Given the description of an element on the screen output the (x, y) to click on. 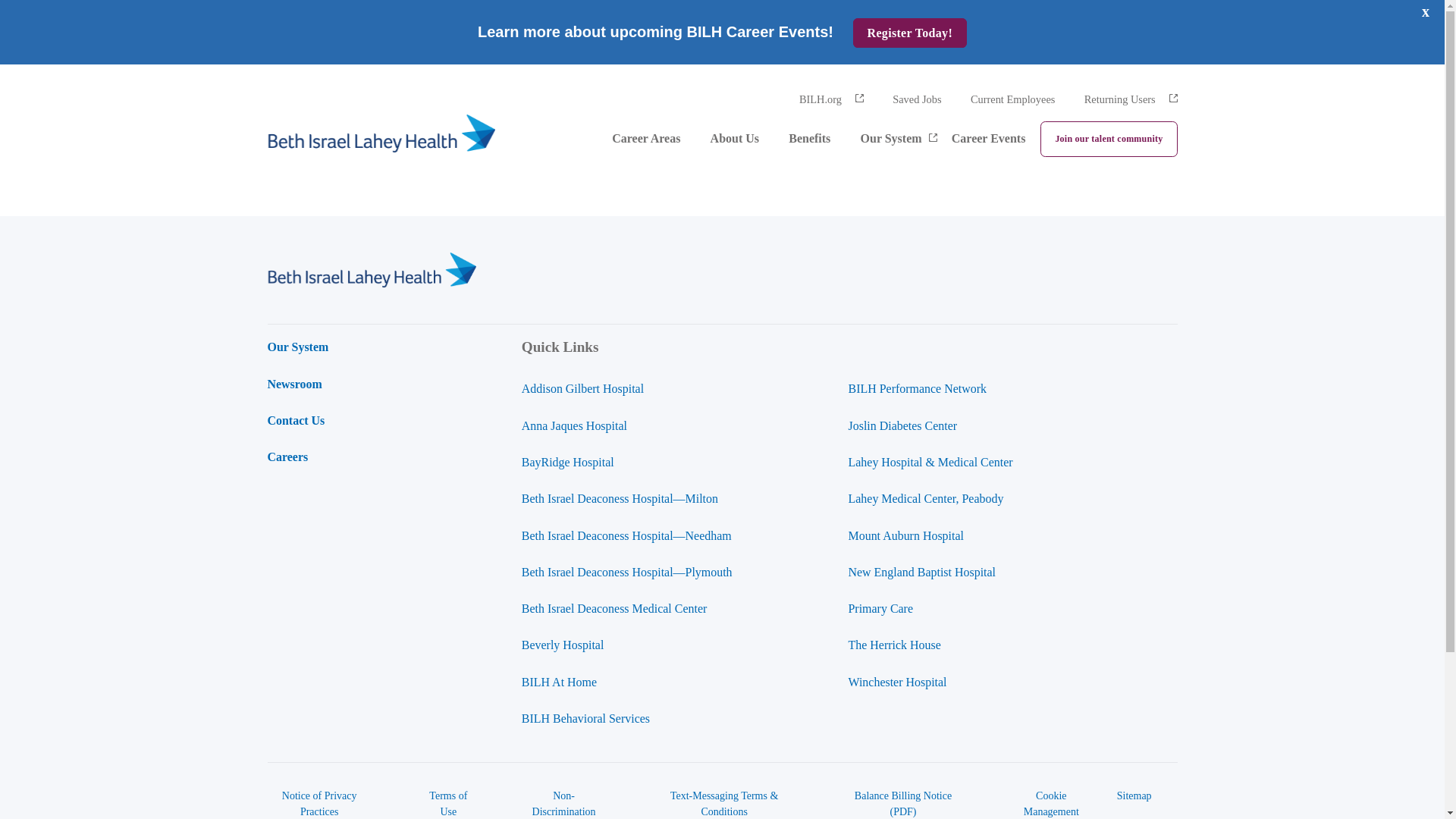
Join our talent community (1108, 139)
Career Events (989, 141)
Register Today! (910, 32)
Saved Jobs (916, 99)
Career Areas (645, 141)
Returning Users (1130, 99)
BILH.org (831, 99)
About Us (734, 141)
Current Employees (1013, 99)
Benefits (809, 141)
Our System (890, 141)
